Given the description of an element on the screen output the (x, y) to click on. 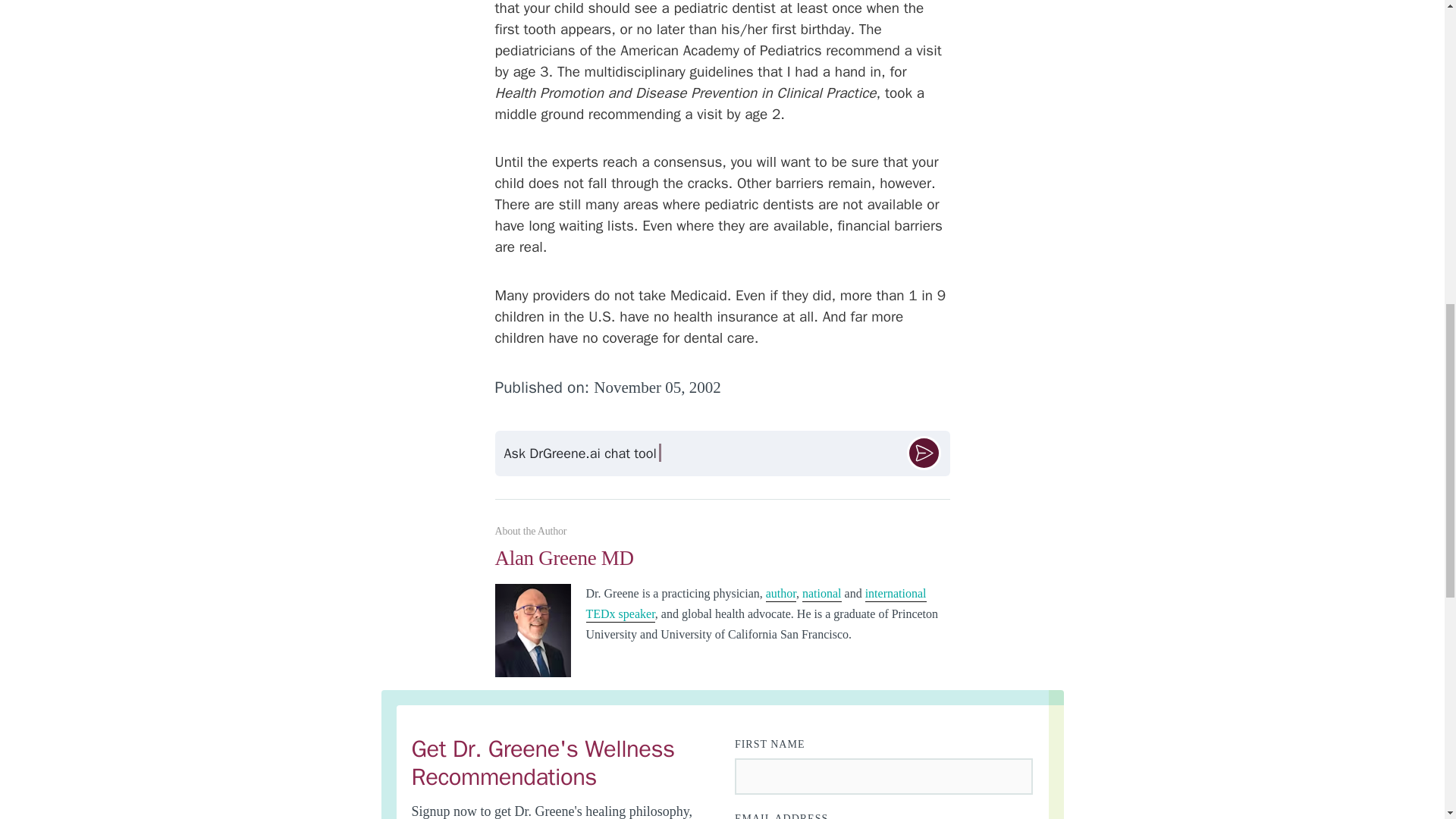
author (780, 594)
international TEDx speaker (755, 604)
national (821, 594)
Alan Greene MD (722, 565)
